Given the description of an element on the screen output the (x, y) to click on. 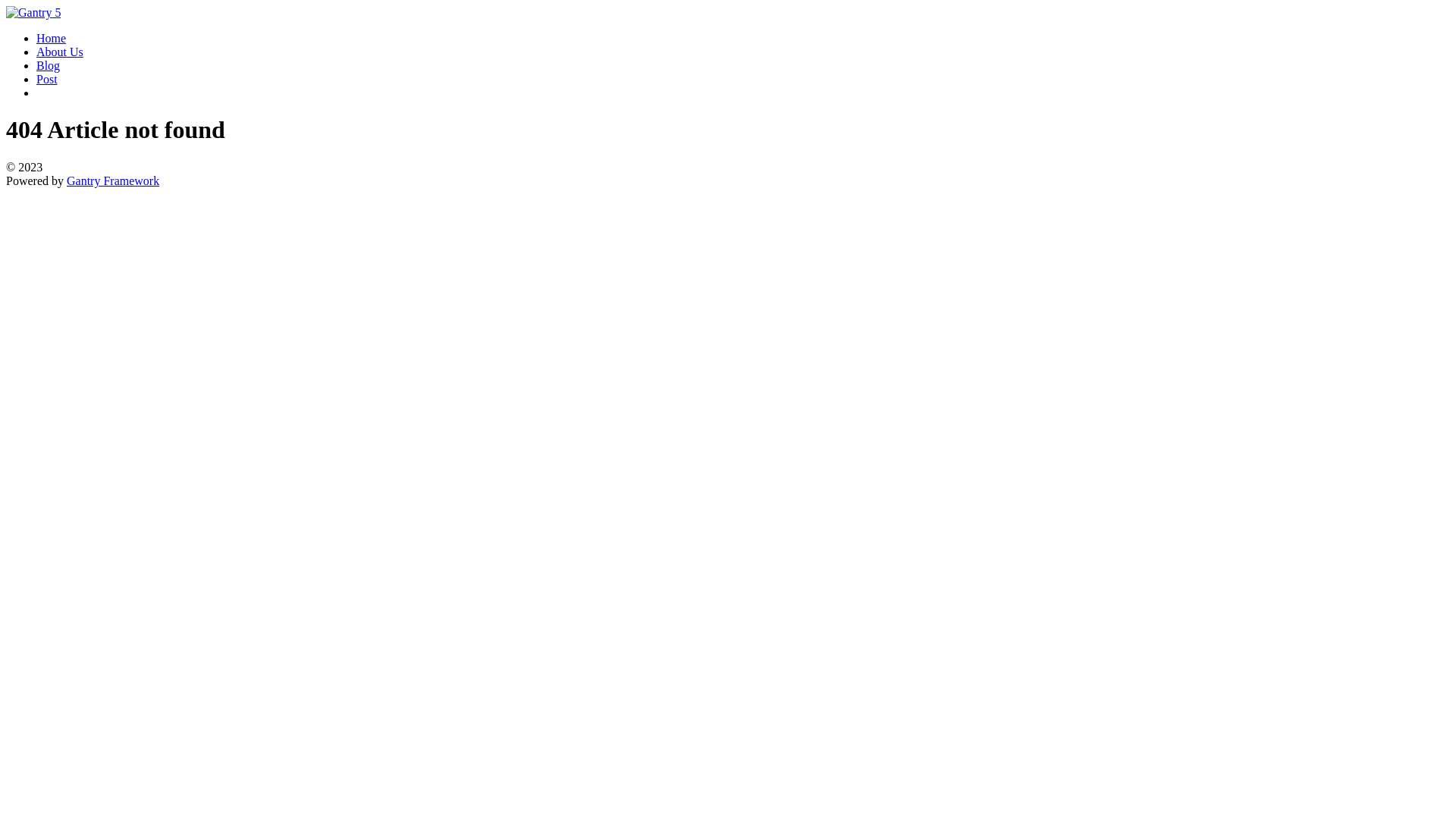
Home Element type: text (50, 37)
Gantry Framework Element type: text (112, 180)
About Us Element type: text (59, 51)
Post Element type: text (46, 78)
Blog Element type: text (47, 65)
Gantry 5 Element type: hover (33, 12)
